Given the description of an element on the screen output the (x, y) to click on. 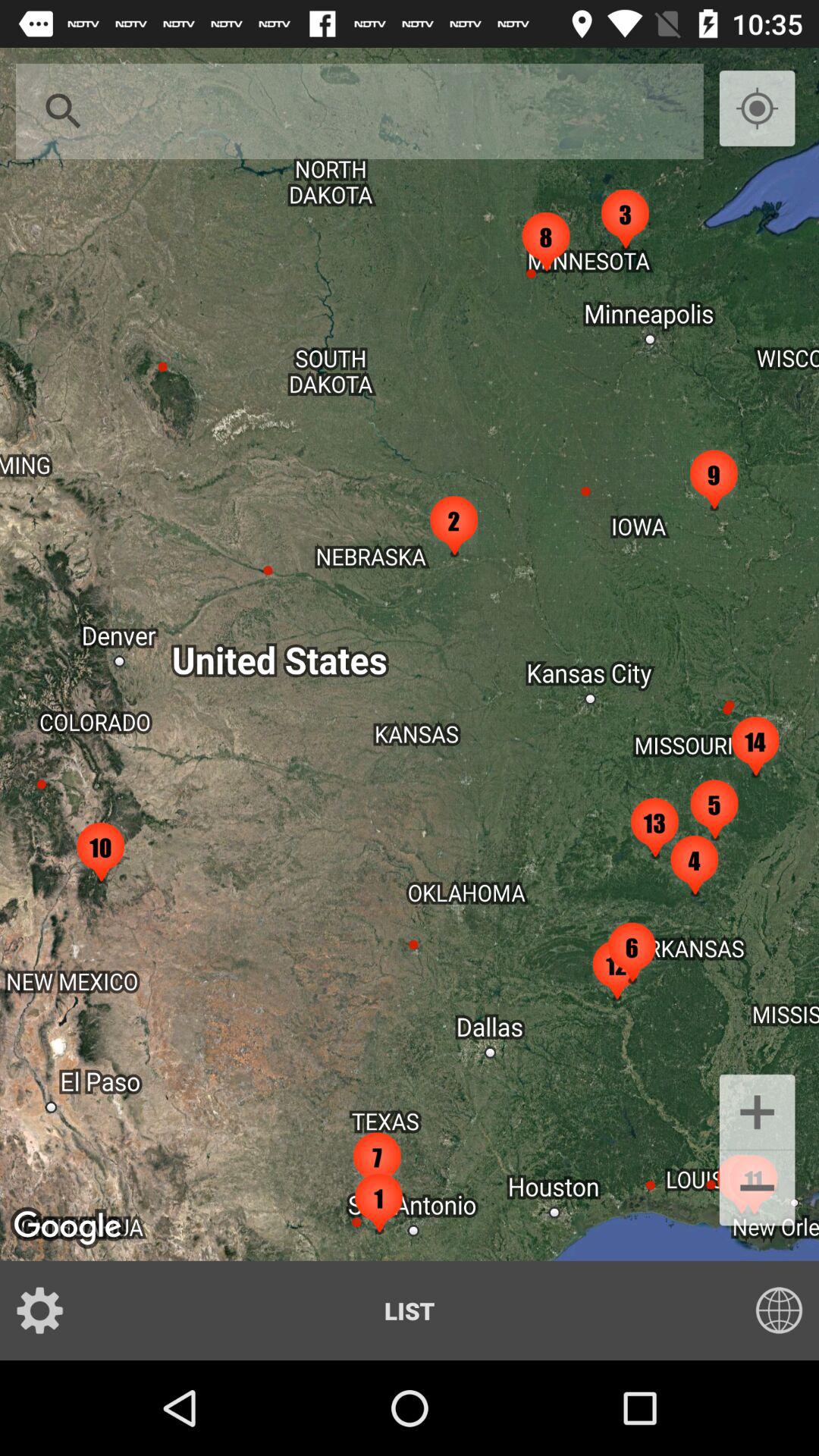
open item to the left of the list item (49, 1310)
